Given the description of an element on the screen output the (x, y) to click on. 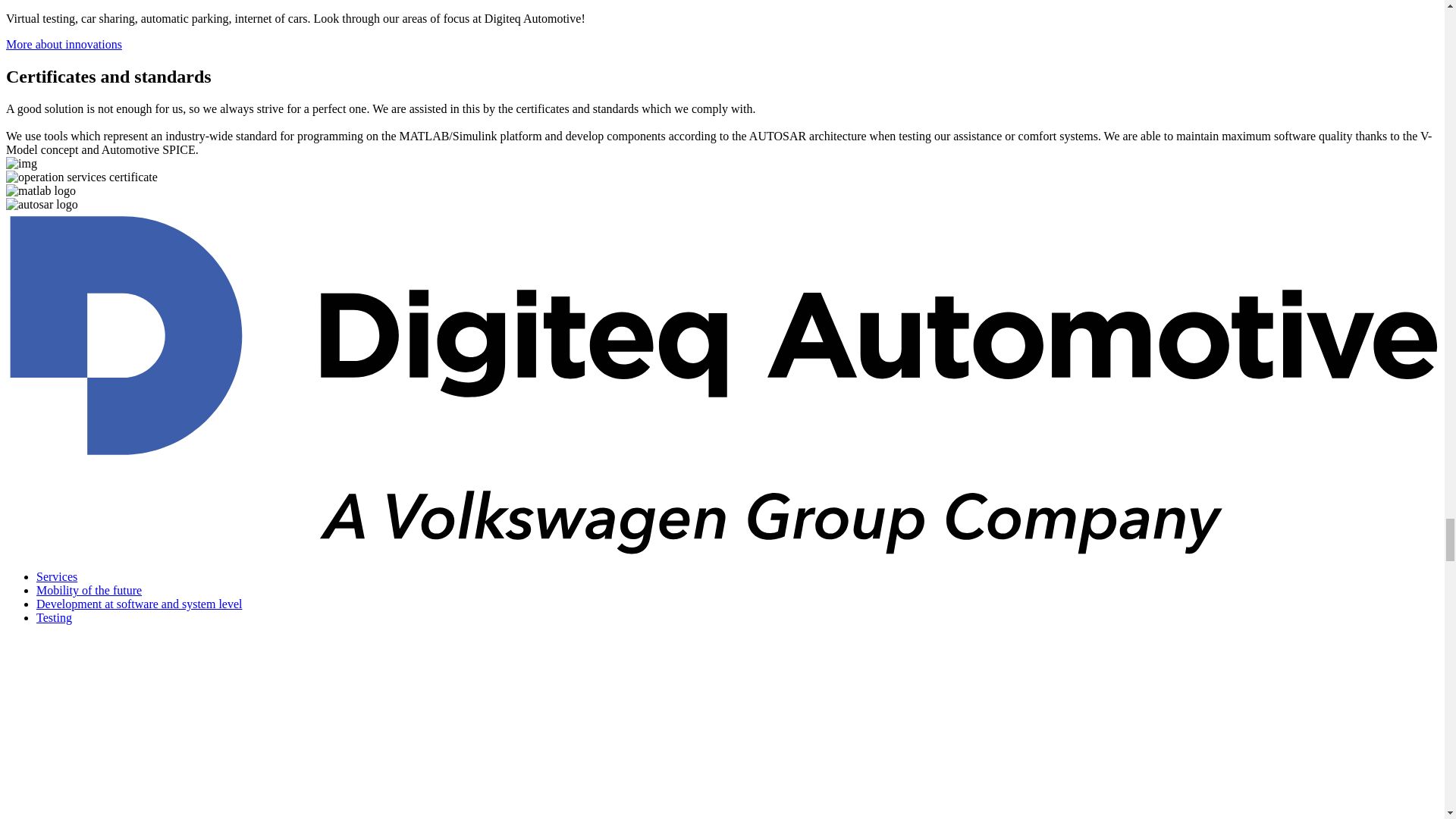
Development at software and system level (138, 603)
Testing (53, 617)
Services (56, 576)
More about innovations (63, 43)
Mobility of the future (88, 590)
